Given the description of an element on the screen output the (x, y) to click on. 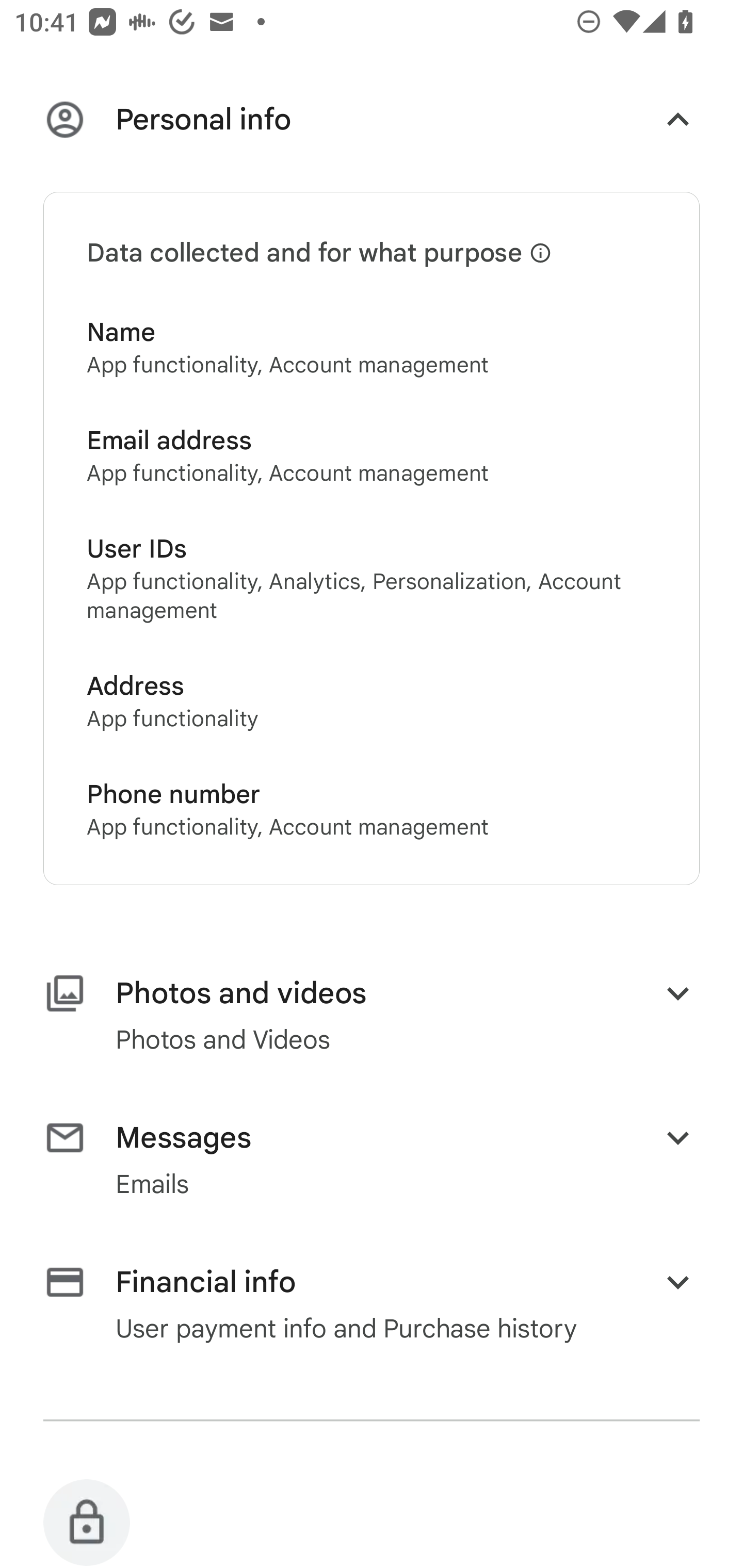
heading Personal info Collapse button (371, 122)
heading Messages Emails Expand button (371, 1159)
